Given the description of an element on the screen output the (x, y) to click on. 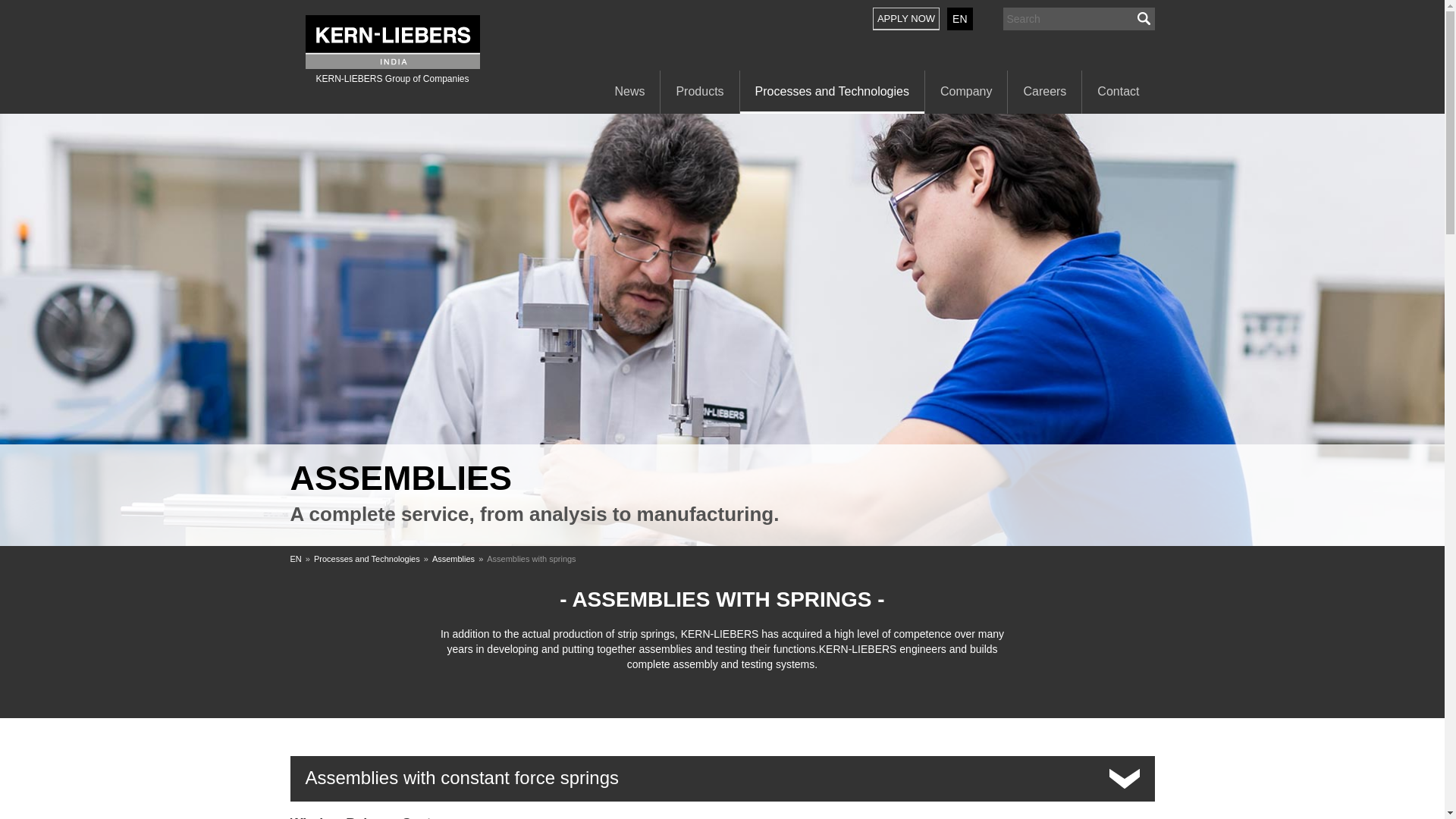
APPLY NOW (905, 18)
EN (959, 18)
News (628, 93)
APPLY NOW (909, 18)
EN (959, 18)
